Given the description of an element on the screen output the (x, y) to click on. 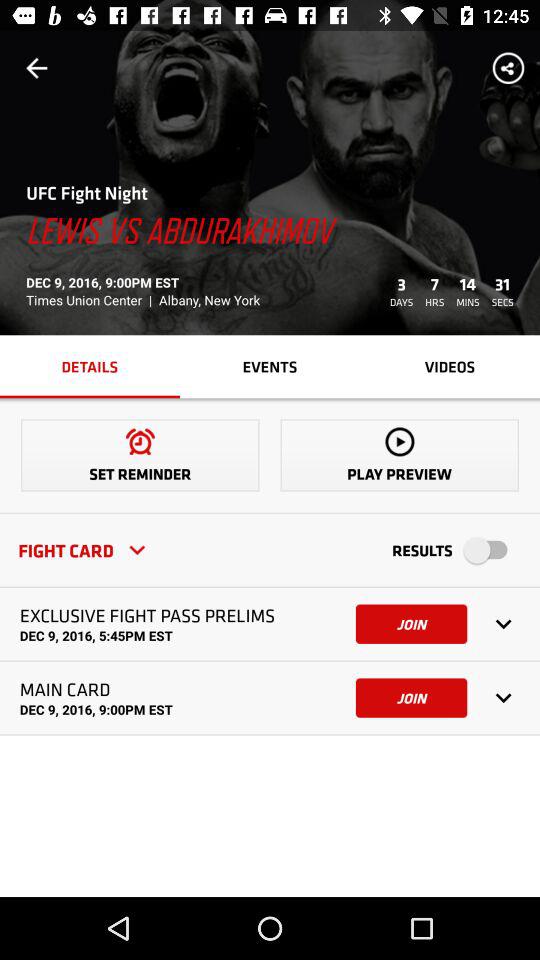
click on the down scroll which is right to the first join (503, 624)
click the drop down beside the fight card (136, 549)
